Given the description of an element on the screen output the (x, y) to click on. 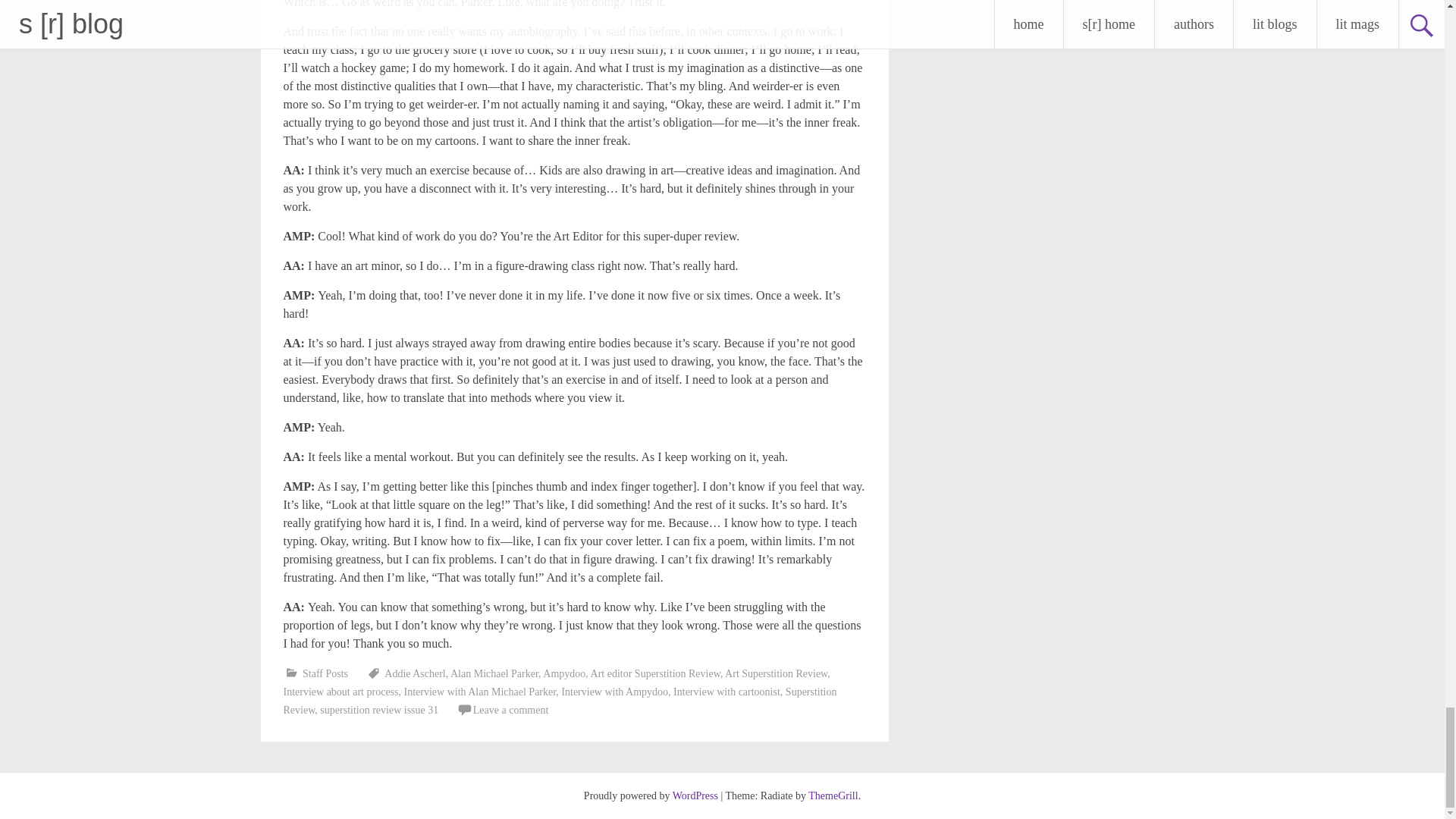
Interview with cartoonist (726, 691)
Leave a comment (510, 709)
Ampydoo (564, 673)
Art editor Superstition Review (655, 673)
superstition review issue 31 (379, 709)
Staff Posts (324, 673)
Alan Michael Parker (493, 673)
Art Superstition Review (776, 673)
Addie Ascherl (414, 673)
Interview with Alan Michael Parker (479, 691)
Superstition Review (560, 700)
Interview about art process (340, 691)
Interview with Ampydoo (614, 691)
